Given the description of an element on the screen output the (x, y) to click on. 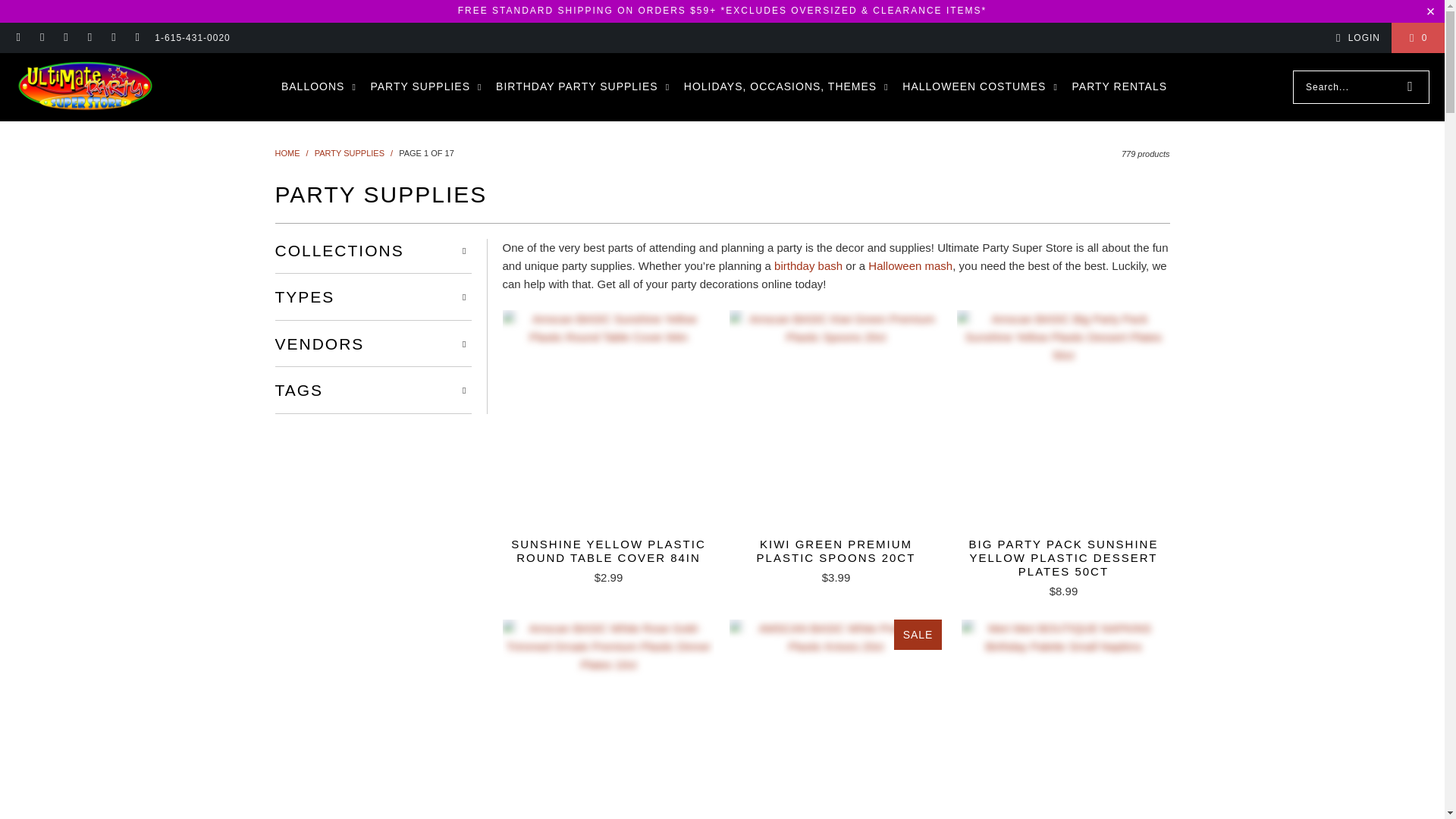
Ultimate Party Super Stores (287, 153)
Ultimate Party Super Stores on Facebook (41, 37)
Email Ultimate Party Super Stores (17, 37)
Ultimate Party Super Stores on Twitter (112, 37)
Ultimate Party Super Stores on YouTube (136, 37)
Ultimate Party Super Stores (84, 86)
Ultimate Party Super Stores on Instagram (65, 37)
Ultimate Party Super Stores on Pinterest (89, 37)
My Account  (1355, 37)
Party Supplies (349, 153)
